Given the description of an element on the screen output the (x, y) to click on. 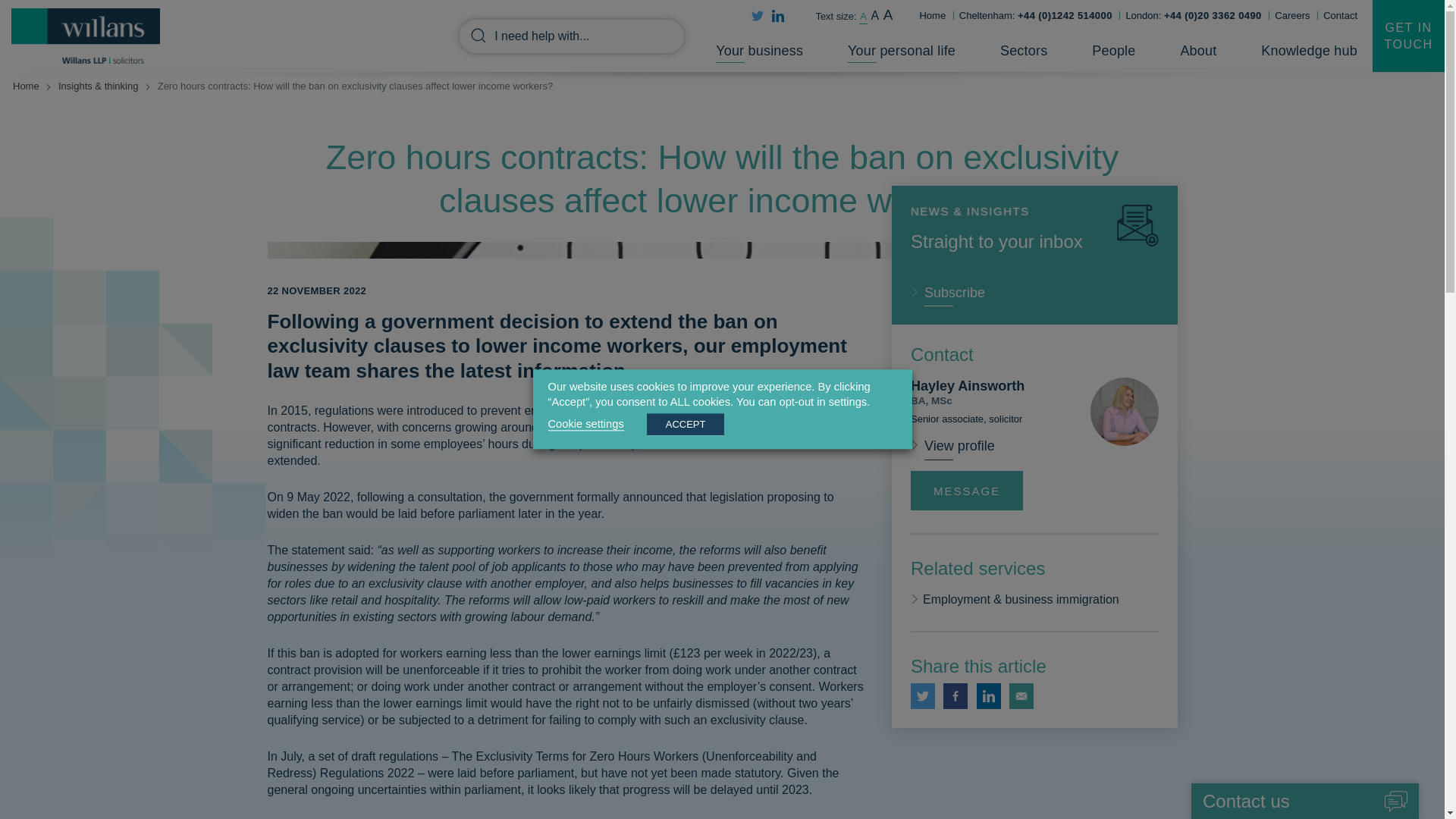
Willans Cheltenham (1035, 15)
Follow us on twitter (756, 15)
Your business (759, 53)
Home (931, 15)
Follow us on facebook (955, 696)
Willans London (1192, 15)
People (1113, 53)
Careers (1291, 15)
About (1197, 53)
Contact (1339, 15)
Careers (1291, 15)
Follow us on twitter (922, 696)
Sectors (1023, 53)
Willans LLP (85, 36)
Your personal life (901, 53)
